Given the description of an element on the screen output the (x, y) to click on. 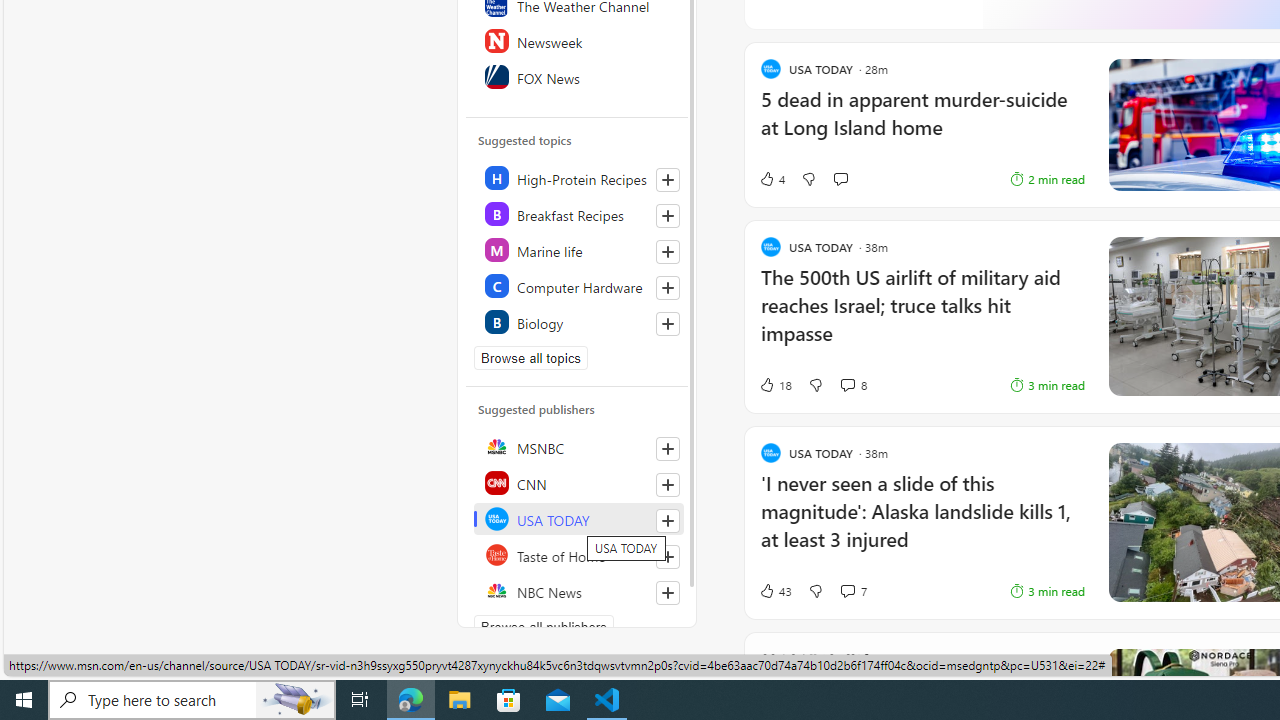
18 Like (775, 384)
View comments 8 Comment (852, 384)
NBC News (578, 590)
Taste of Home (578, 554)
MSNBC (578, 446)
FOX News (578, 76)
Browse all publishers (543, 626)
Newsweek (578, 40)
5 dead in apparent murder-suicide at Long Island home (922, 123)
View comments 8 Comment (847, 385)
